Given the description of an element on the screen output the (x, y) to click on. 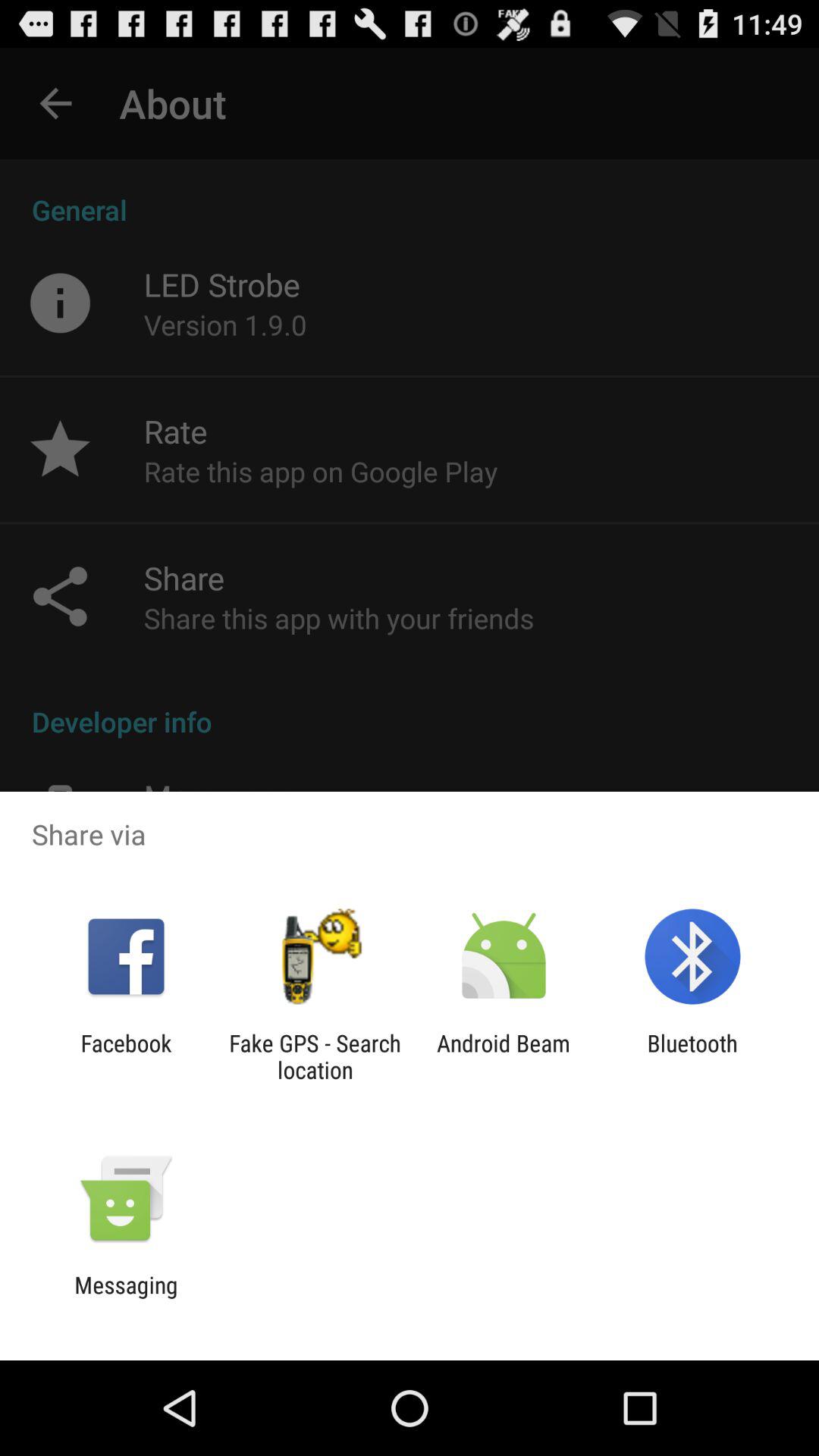
scroll until messaging icon (126, 1298)
